Given the description of an element on the screen output the (x, y) to click on. 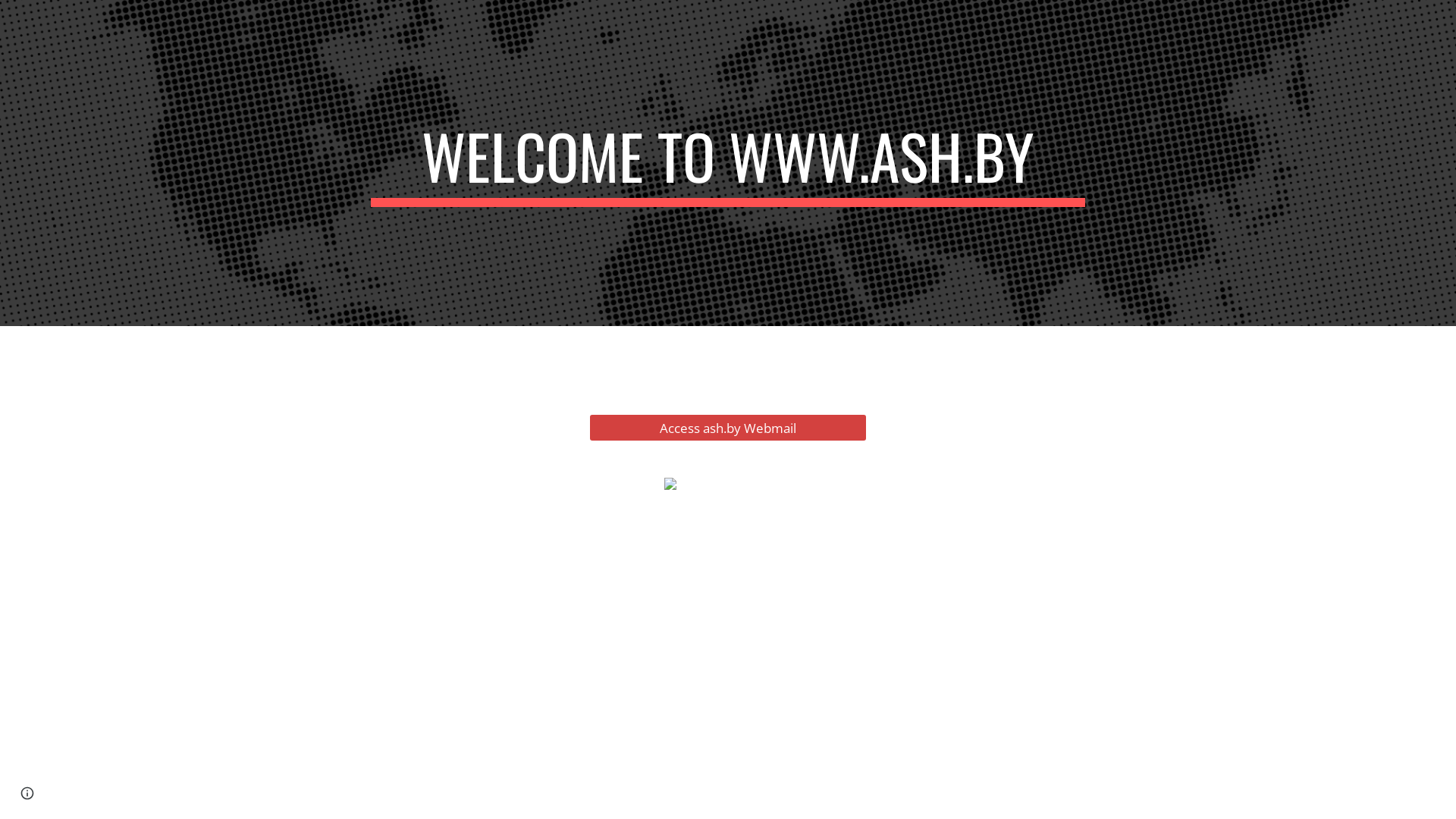
Access ash.by Webmail Element type: text (727, 426)
